Given the description of an element on the screen output the (x, y) to click on. 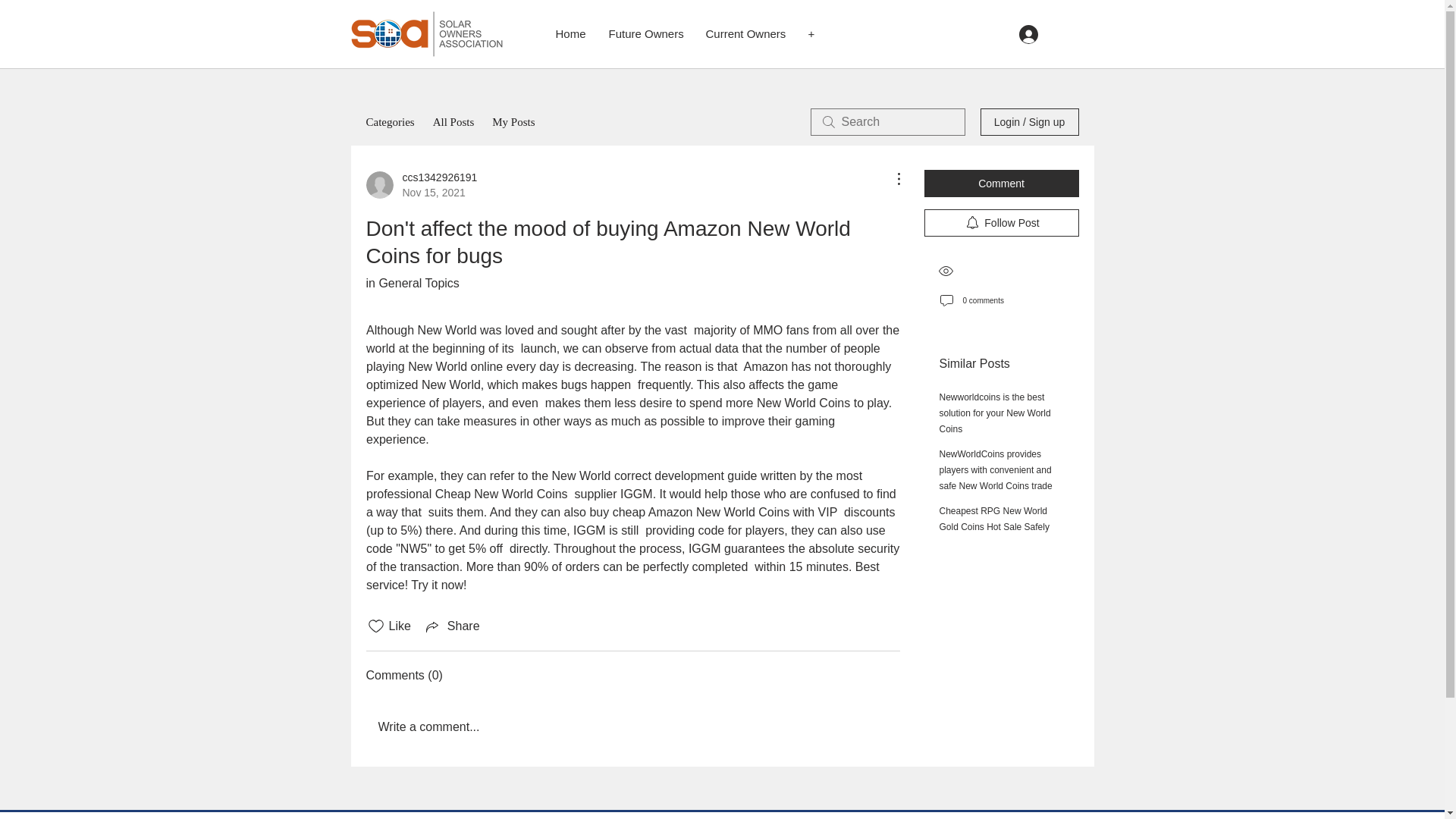
in General Topics (411, 282)
Follow Post (1000, 222)
Home (570, 33)
New World Coins (801, 402)
Categories (389, 122)
Cheap New World Coins (500, 493)
Cheapest RPG New World Gold Coins Hot Sale Safely (993, 519)
Comment (1000, 183)
My Posts (513, 122)
